Given the description of an element on the screen output the (x, y) to click on. 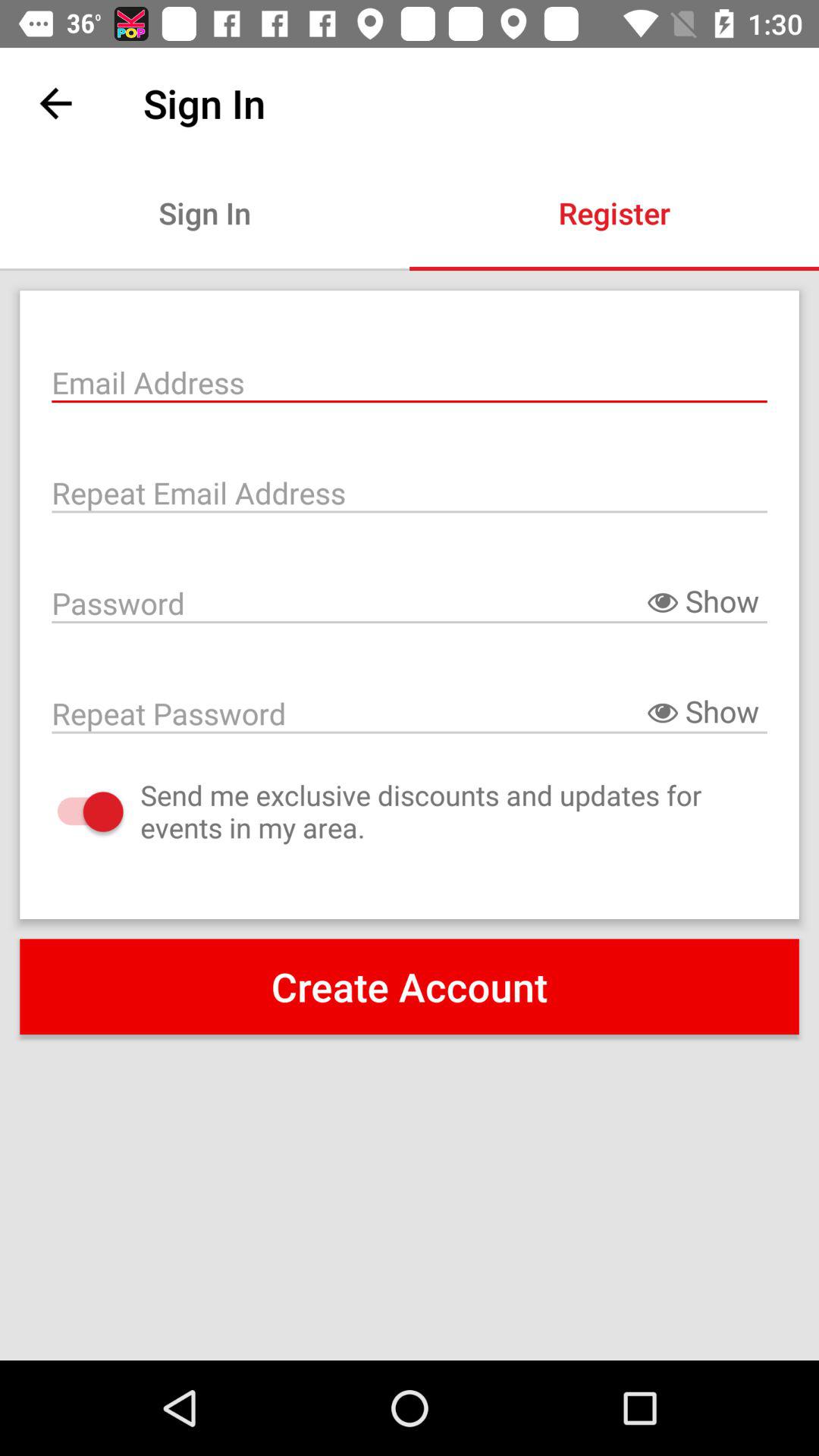
jump to the create account item (409, 986)
